Given the description of an element on the screen output the (x, y) to click on. 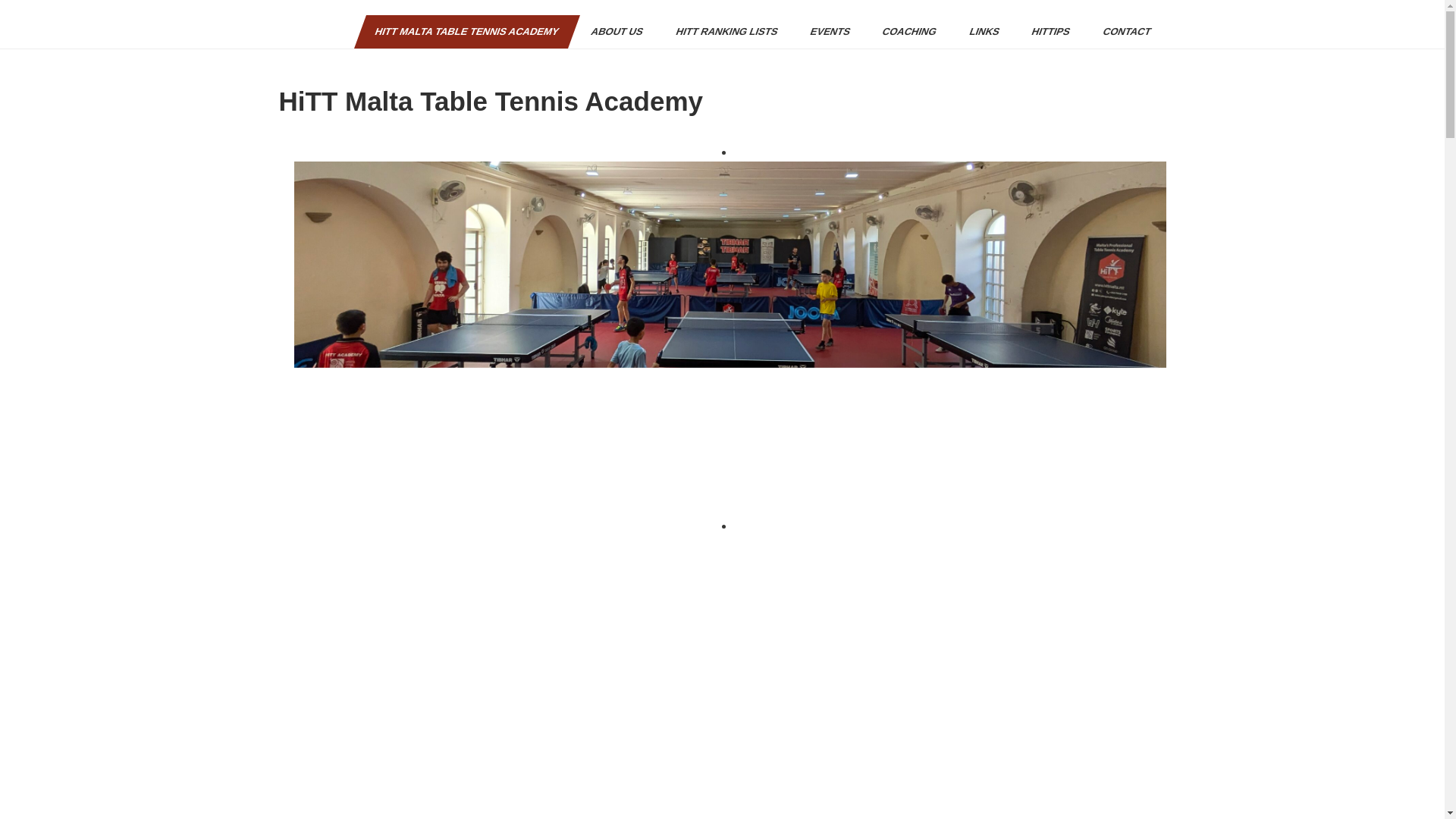
COACHING (902, 31)
CONTACT (1120, 31)
HITTIPS (1044, 31)
HiTT Malta (304, 36)
HITT MALTA TABLE TENNIS ACADEMY (460, 31)
EVENTS (824, 31)
LINKS (979, 31)
ABOUT US (611, 31)
HITT RANKING LISTS (721, 31)
